Given the description of an element on the screen output the (x, y) to click on. 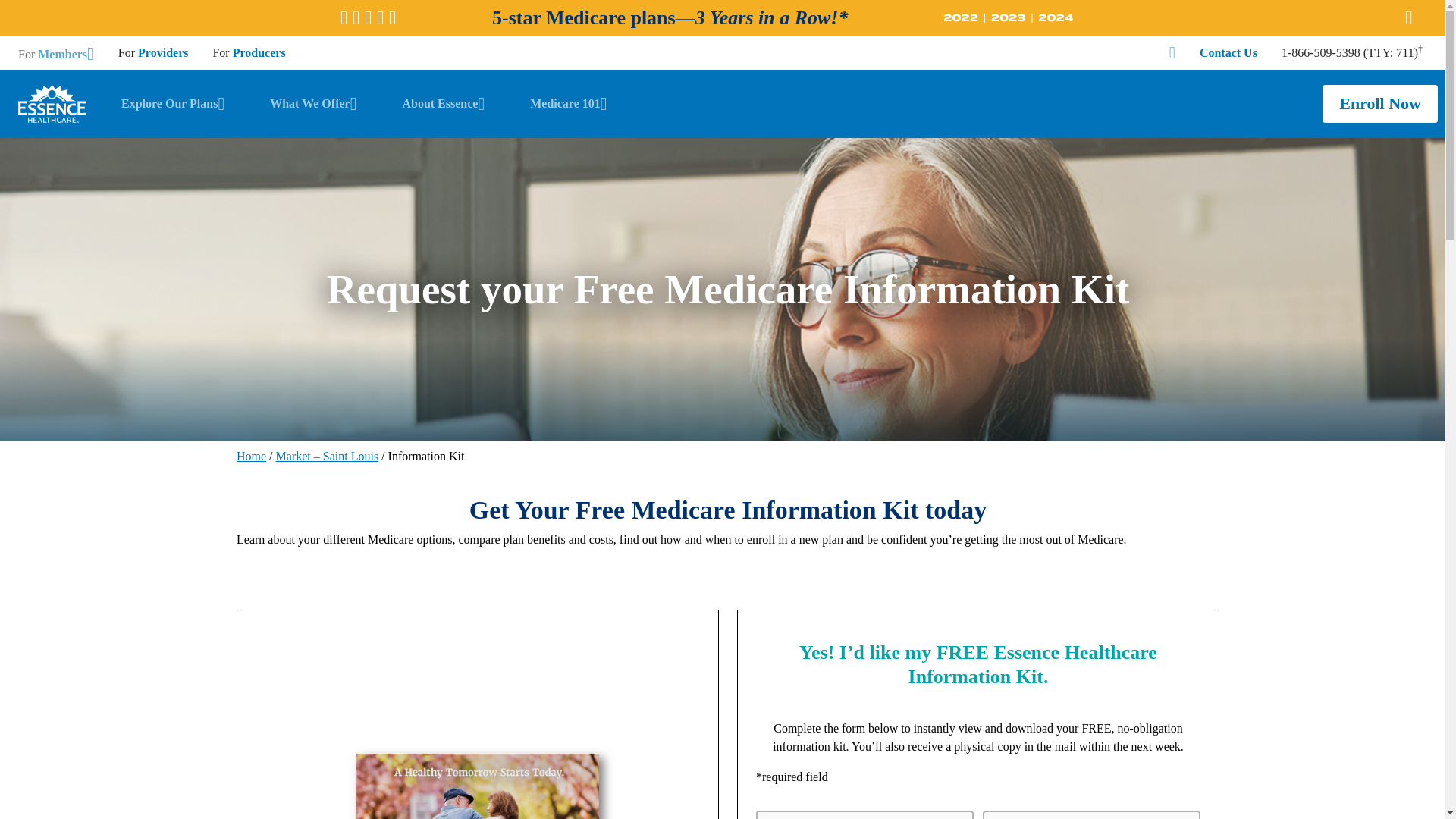
Contact Us (1228, 53)
Essence Healthcare (58, 103)
Explore Our Plans (172, 103)
For Members (55, 53)
Providers (162, 53)
Enroll Now (1380, 103)
Producers (258, 53)
What We Offer (312, 103)
